Given the description of an element on the screen output the (x, y) to click on. 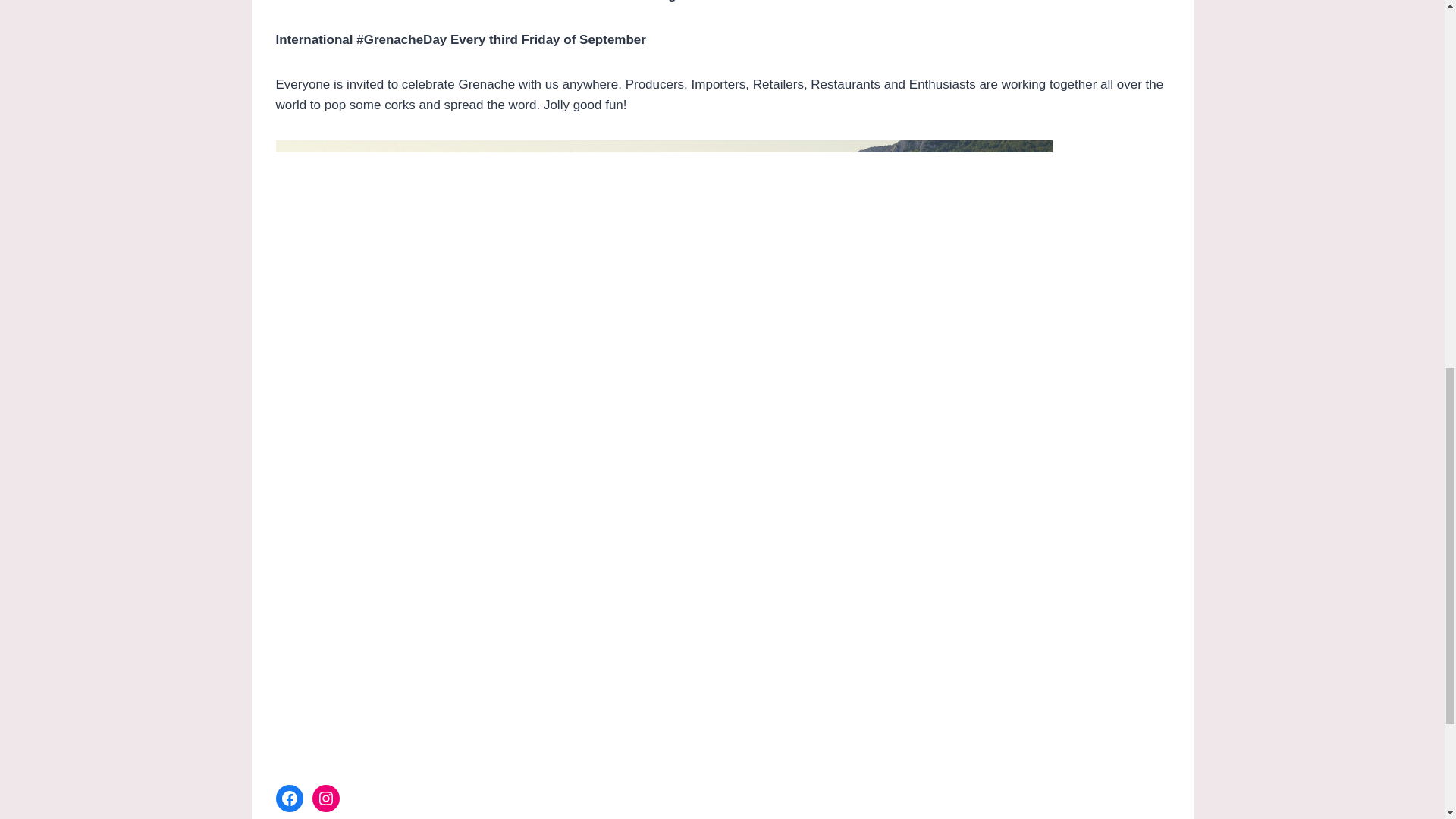
Facebook (289, 798)
Instagram (326, 798)
